Given the description of an element on the screen output the (x, y) to click on. 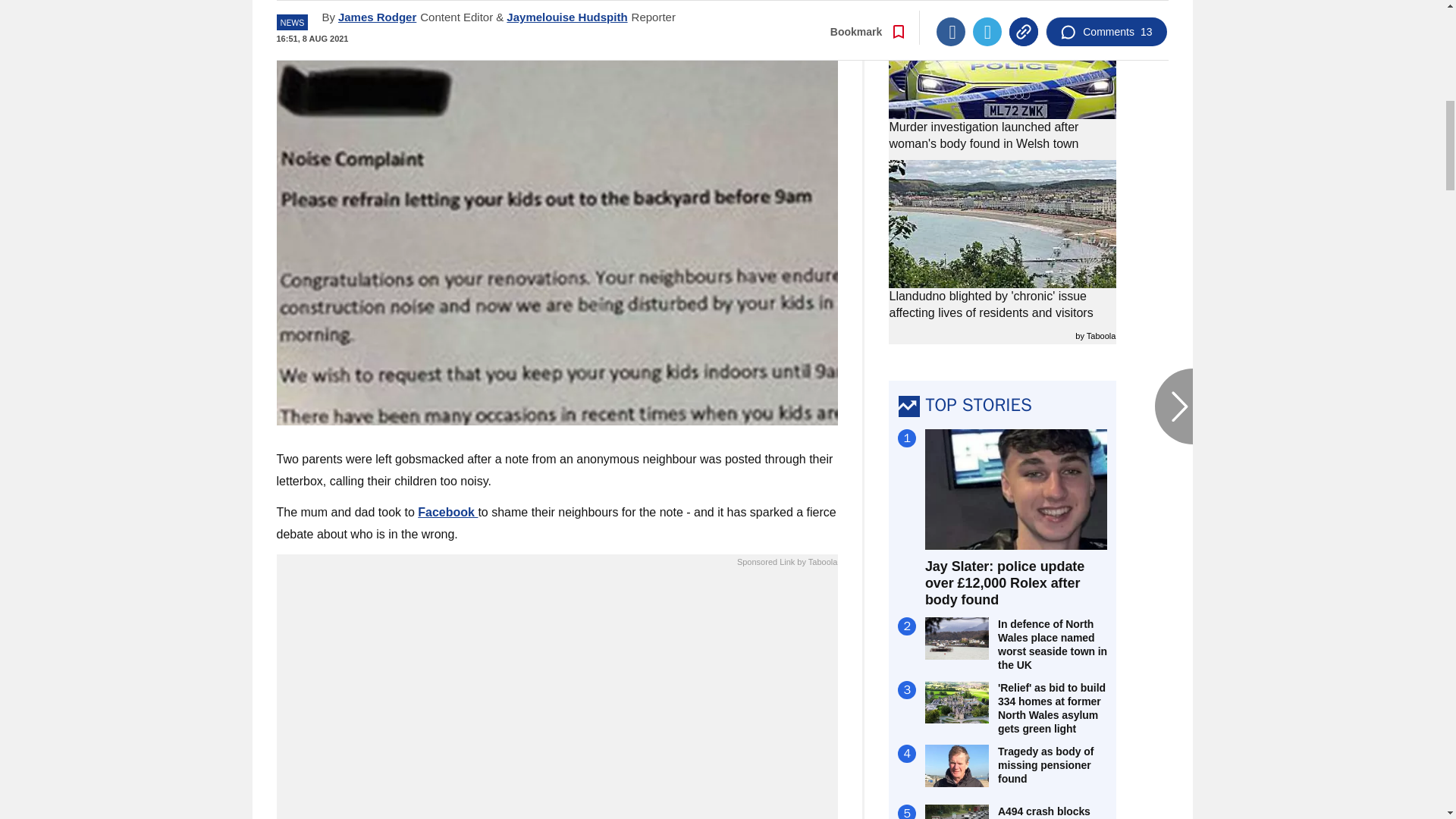
Go (730, 17)
